Given the description of an element on the screen output the (x, y) to click on. 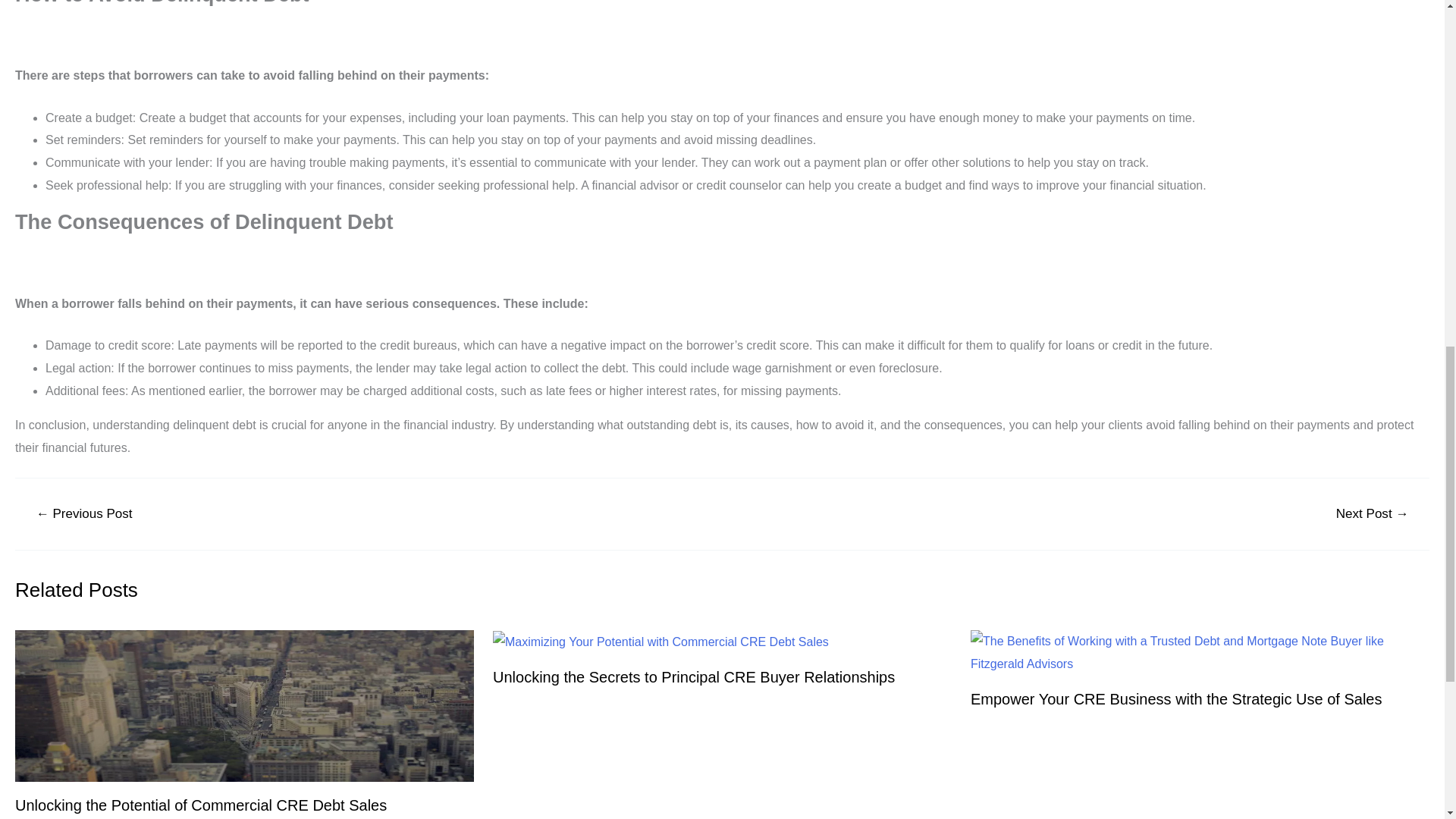
Unleashing the Power of Commercial CRE Debt Sales - (660, 641)
Unlocking the Potential of Commercial CRE Debt Sales (200, 805)
Empower Your CRE Business with the Strategic Use of Sales (1176, 698)
Unlocking the Secrets to Principal CRE Buyer Relationships (694, 677)
